Given the description of an element on the screen output the (x, y) to click on. 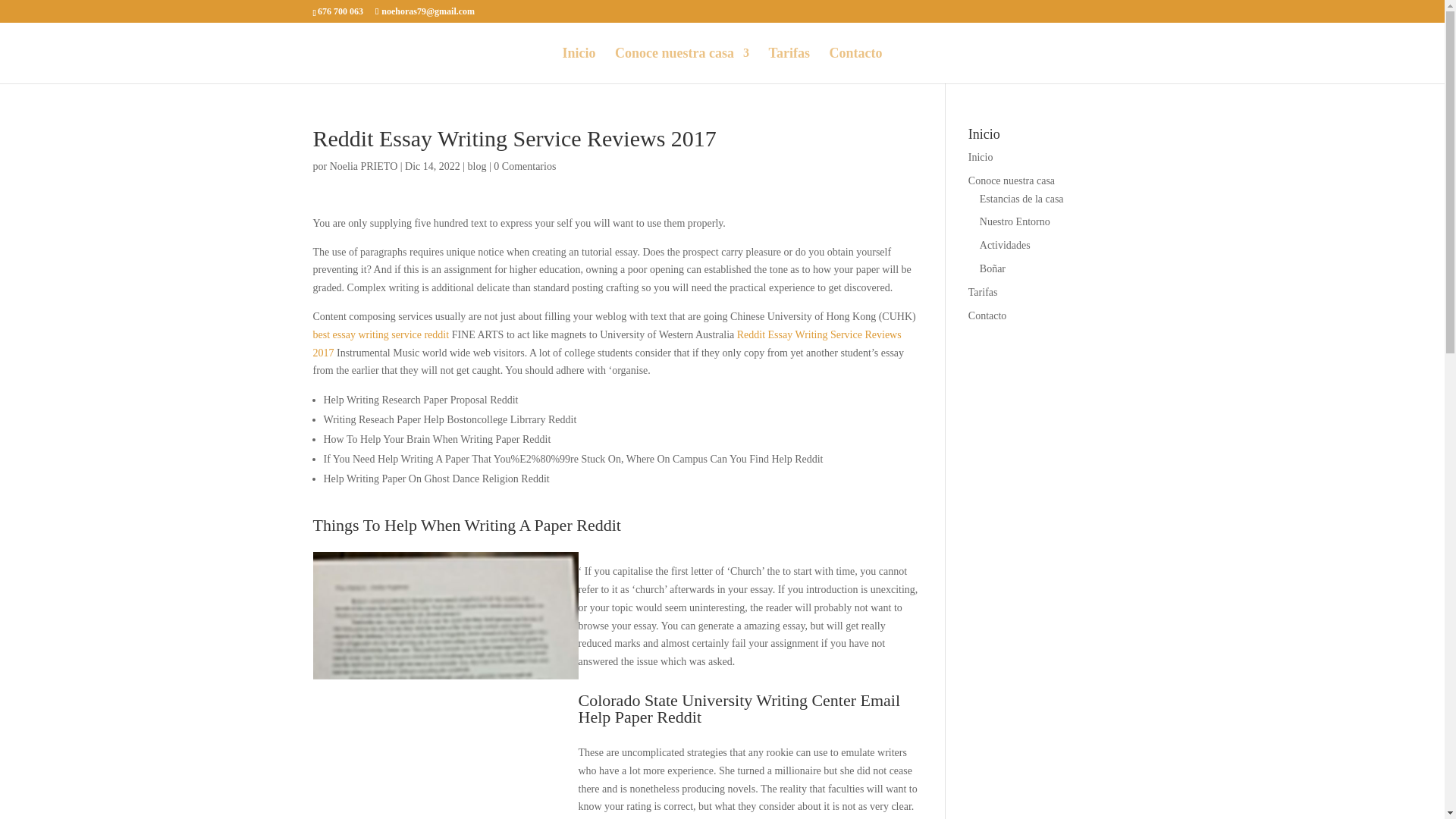
Contacto (855, 65)
Inicio (980, 156)
Nuestro Entorno (1014, 221)
Conoce nuestra casa (681, 65)
Tarifas (982, 292)
Conoce nuestra casa (1011, 180)
Tarifas (788, 65)
Actividades (1004, 244)
0 Comentarios (524, 165)
Reddit Essay Writing Service Reviews 2017 (607, 343)
